Given the description of an element on the screen output the (x, y) to click on. 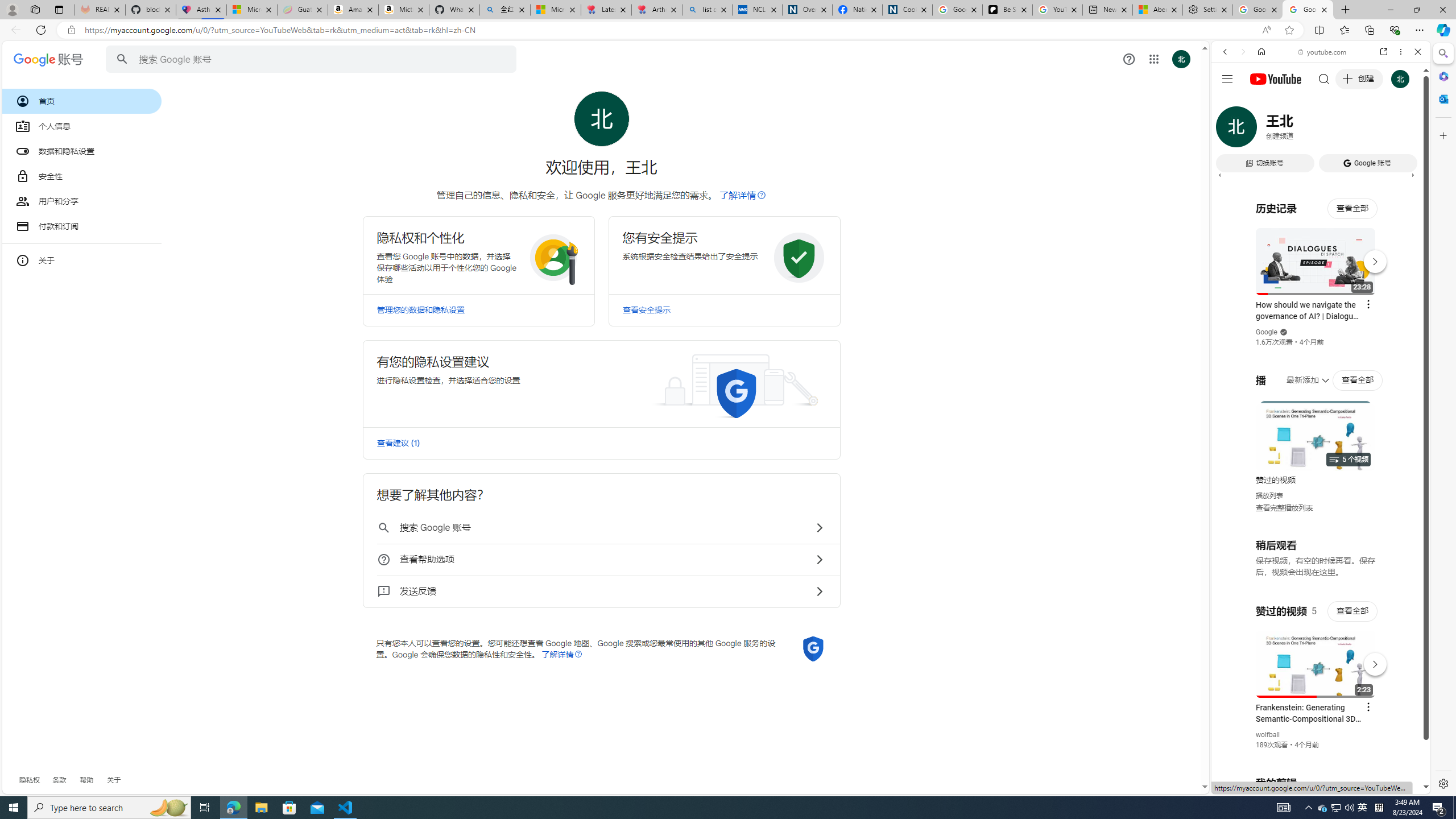
you (1315, 755)
